Given the description of an element on the screen output the (x, y) to click on. 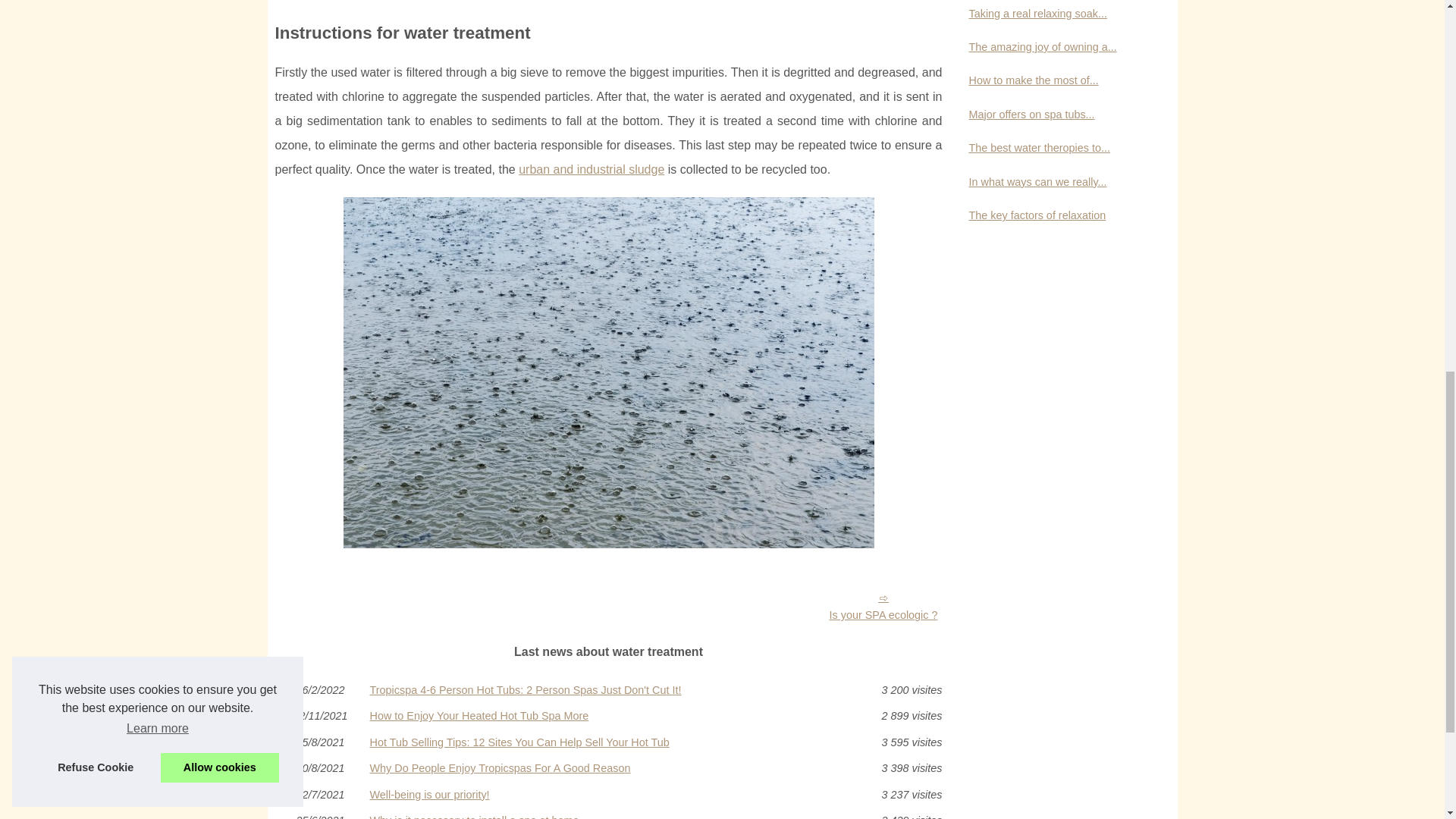
The key factors of relaxation (1055, 215)
Why Do People Enjoy Tropicspas For A Good Reason (608, 767)
How to make the most of... (1055, 80)
Well-being is our priority! (608, 794)
The amazing joy of owning a... (1055, 46)
